Given the description of an element on the screen output the (x, y) to click on. 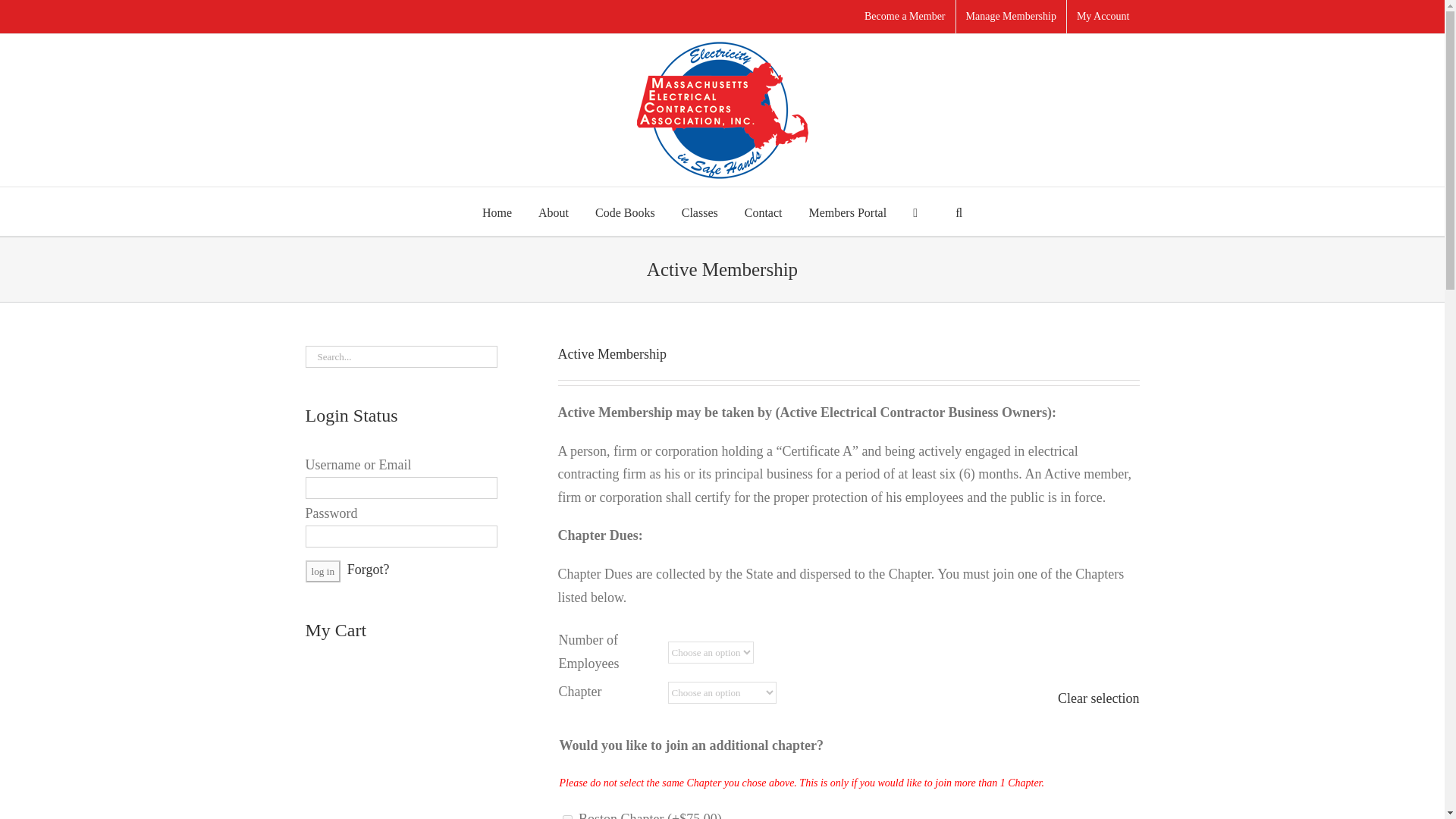
Become a Member (904, 16)
Manage Membership (1010, 16)
My Account (1103, 16)
Code Books (625, 211)
boston-chapter (567, 816)
